Given the description of an element on the screen output the (x, y) to click on. 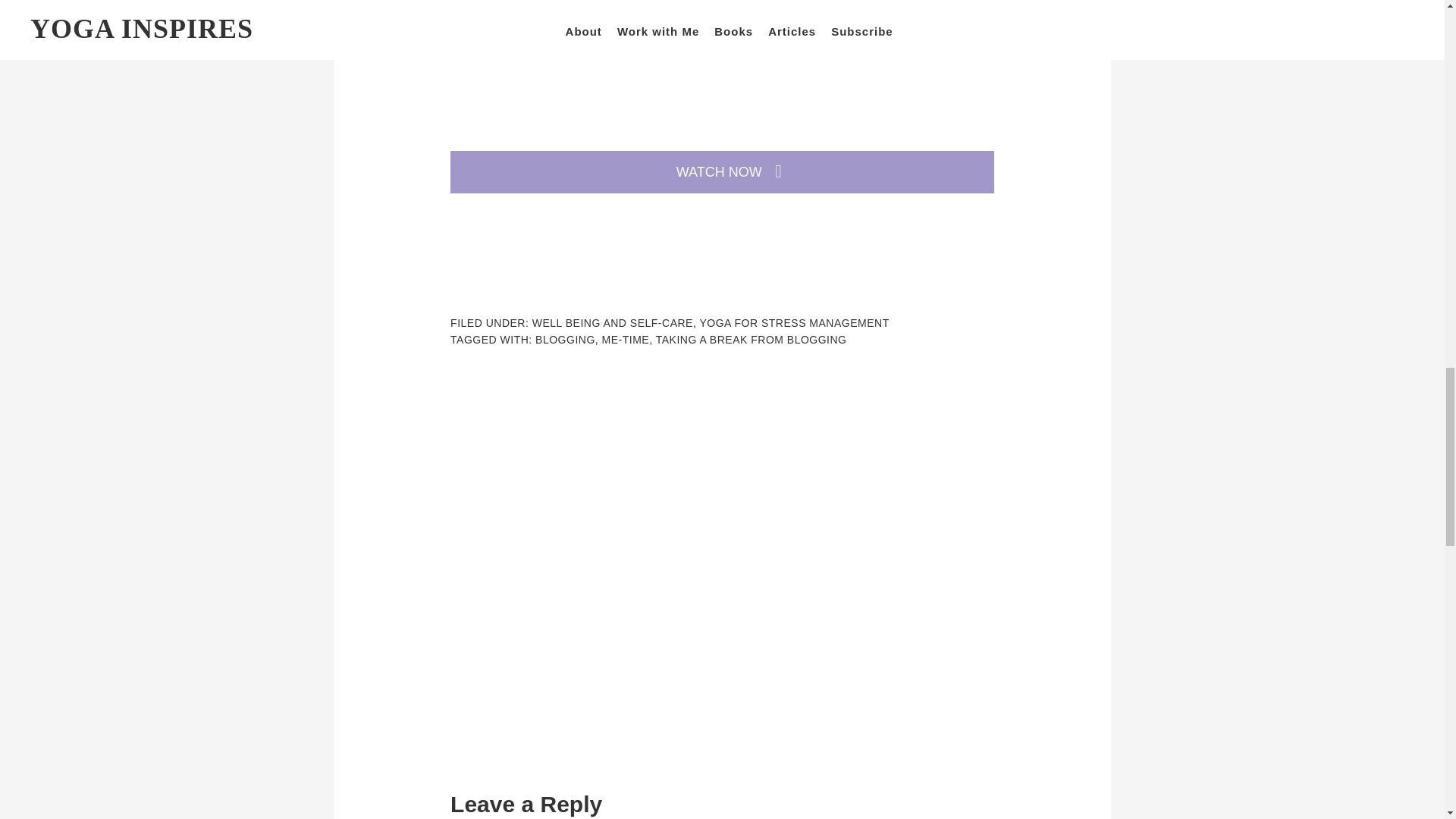
WATCH NOW (721, 171)
YOGA FOR STRESS MANAGEMENT (793, 322)
WELL BEING AND SELF-CARE (612, 322)
ME-TIME (625, 339)
BLOGGING (565, 339)
